Given the description of an element on the screen output the (x, y) to click on. 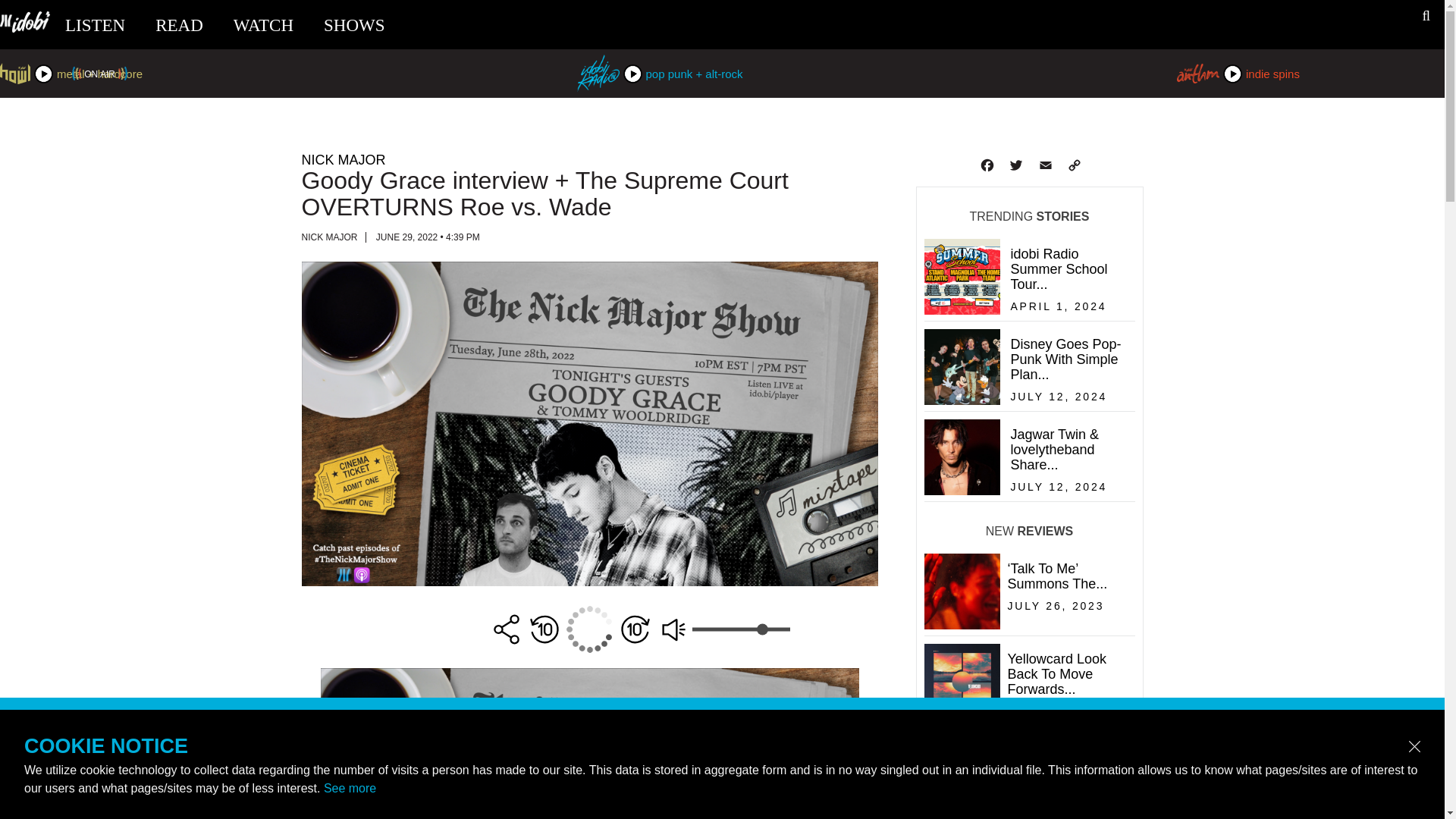
NICK MAJOR (1026, 400)
Twitter (589, 159)
LISTEN (1014, 165)
75 (1026, 310)
READ (1024, 715)
Email (95, 24)
WATCH (740, 628)
Copy Link (179, 24)
Facebook (1043, 165)
SHOWS (263, 24)
